Given the description of an element on the screen output the (x, y) to click on. 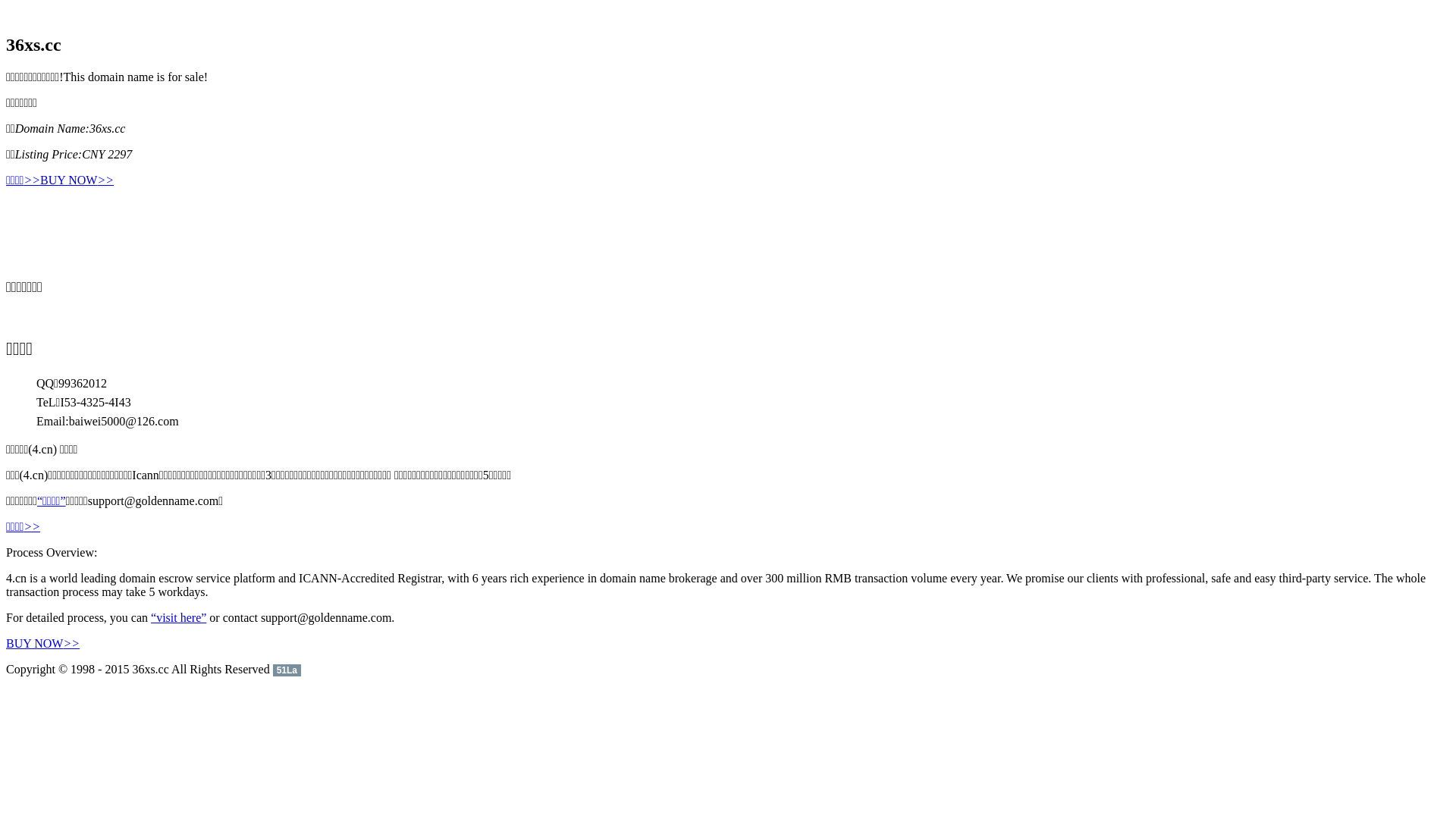
51La Element type: text (287, 668)
BUY NOW>> Element type: text (76, 180)
BUY NOW>> Element type: text (42, 643)
